Given the description of an element on the screen output the (x, y) to click on. 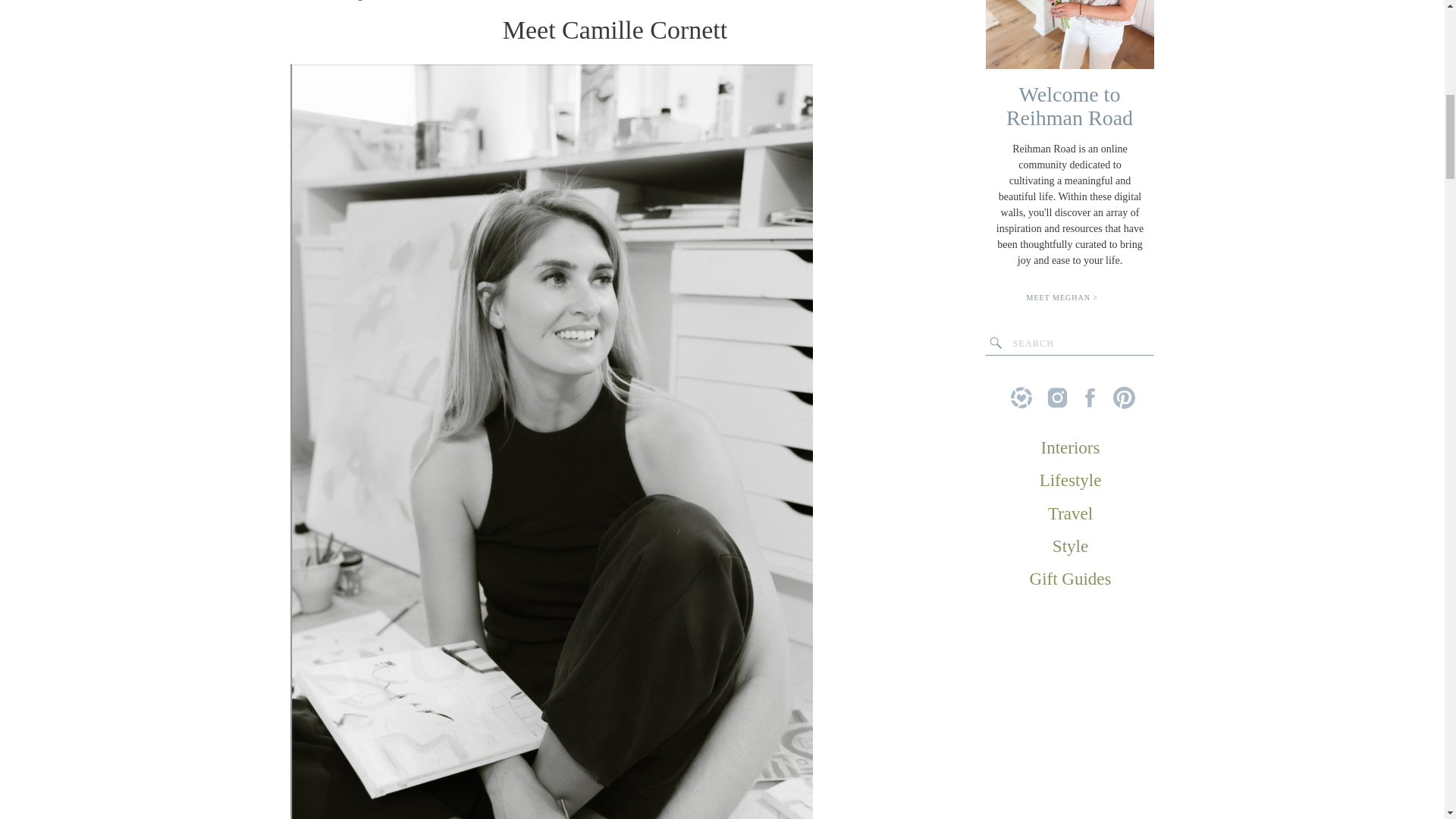
Travel (1070, 512)
Lifestyle (1070, 479)
Style (1070, 545)
Gift Guides (1070, 578)
